Given the description of an element on the screen output the (x, y) to click on. 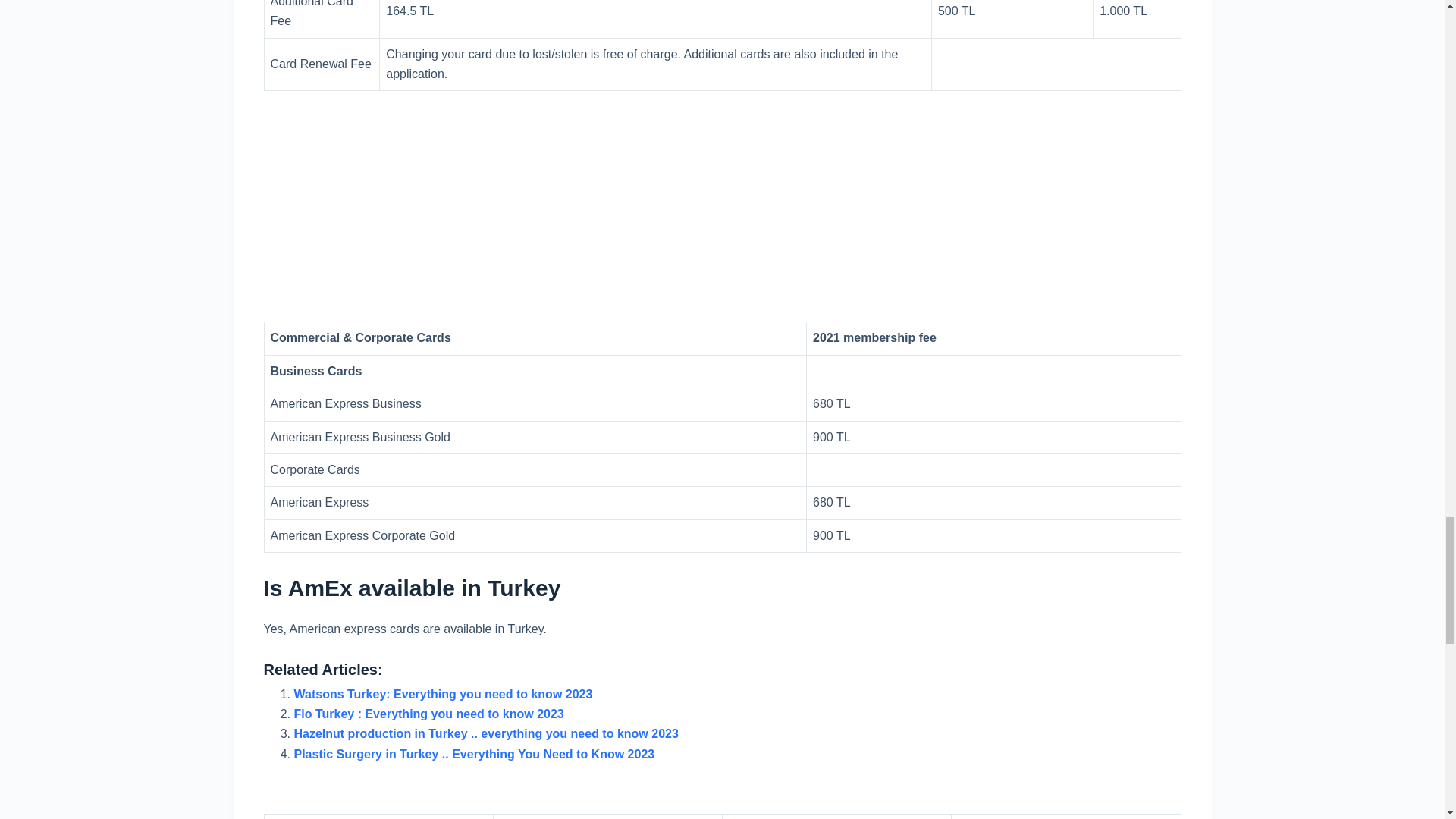
Watsons Turkey: Everything you need to know 2023 (443, 694)
Flo Turkey : Everything you need to know 2023 (429, 713)
